Given the description of an element on the screen output the (x, y) to click on. 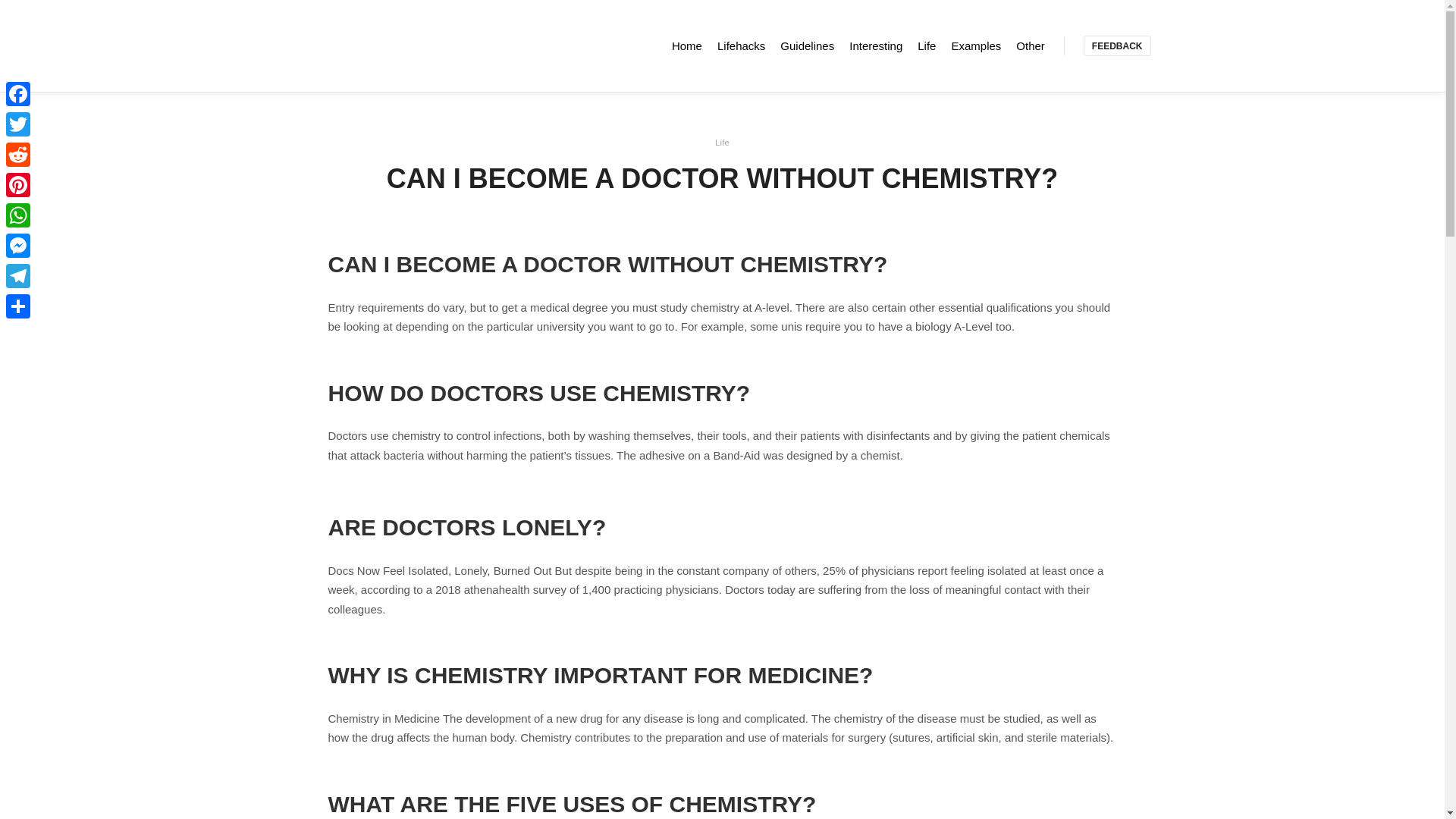
Twitter (17, 123)
WhatsApp (17, 214)
Facebook (17, 93)
Life (721, 142)
Reddit (17, 154)
WhatsApp (17, 214)
Kembrel.com (357, 45)
Twitter (17, 123)
Pinterest (17, 184)
Telegram (17, 276)
Reddit (17, 154)
FEEDBACK (1117, 46)
Facebook (17, 93)
Pinterest (17, 184)
Telegram (17, 276)
